Given the description of an element on the screen output the (x, y) to click on. 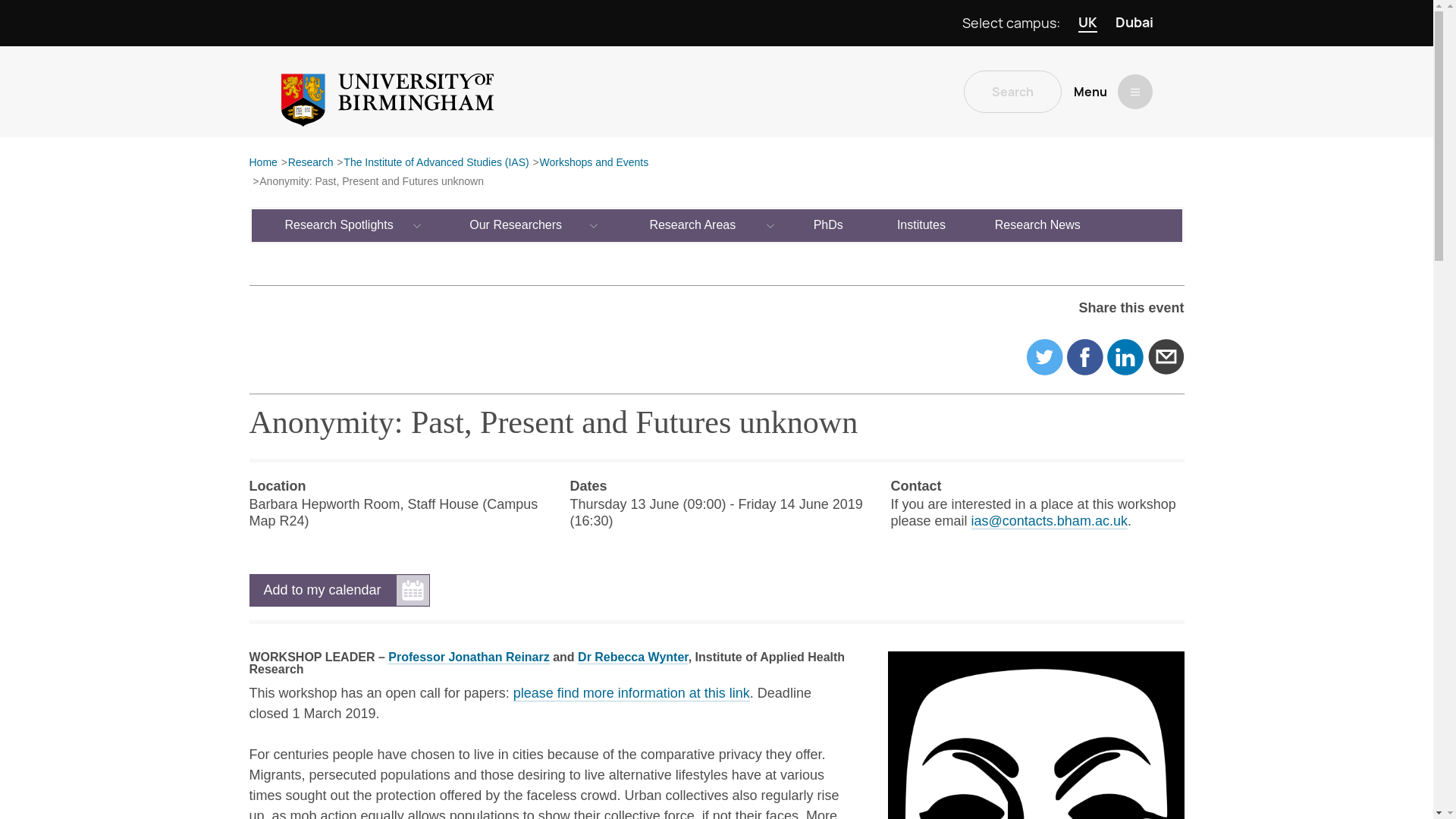
Home (262, 163)
Research Spotlights (339, 224)
Search (1012, 91)
Research Areas (693, 224)
Research (310, 163)
Dubai (1134, 23)
Anonymity: Past, Present and Futures unknown (371, 182)
UK (1087, 23)
Our Researchers (516, 224)
Workshops and Events (592, 163)
